Given the description of an element on the screen output the (x, y) to click on. 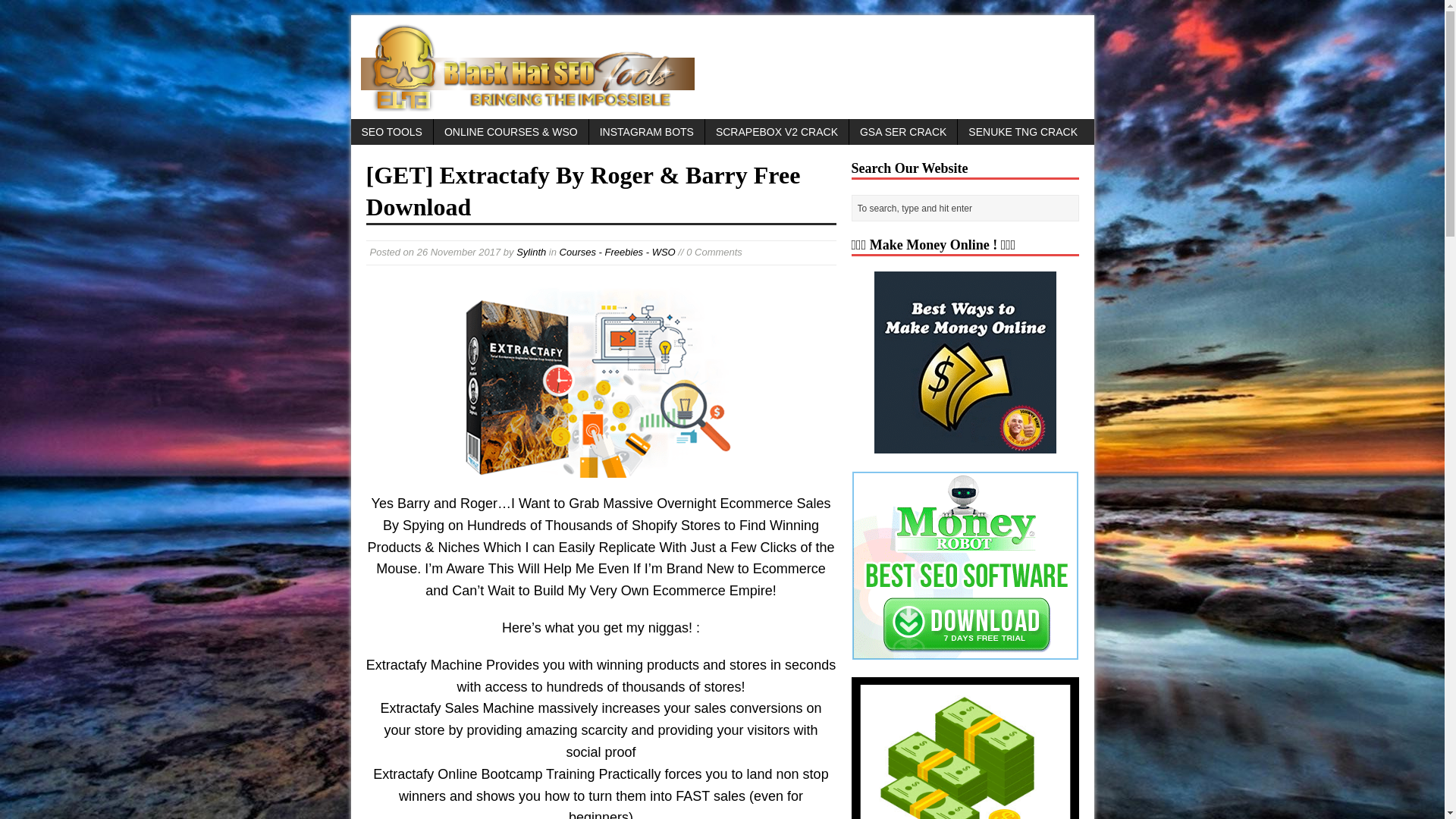
GSA SER CRACK (902, 131)
Extractafy - Roger and Barry Free Download (601, 378)
To search, type and hit enter (966, 208)
Posts by Sylinth (531, 251)
SEO TOOLS (391, 131)
INSTAGRAM BOTS (646, 131)
Courses - Freebies - WSO (617, 251)
SCRAPEBOX V2 CRACK (776, 131)
Sylinth (531, 251)
SENUKE TNG CRACK (1022, 131)
